Given the description of an element on the screen output the (x, y) to click on. 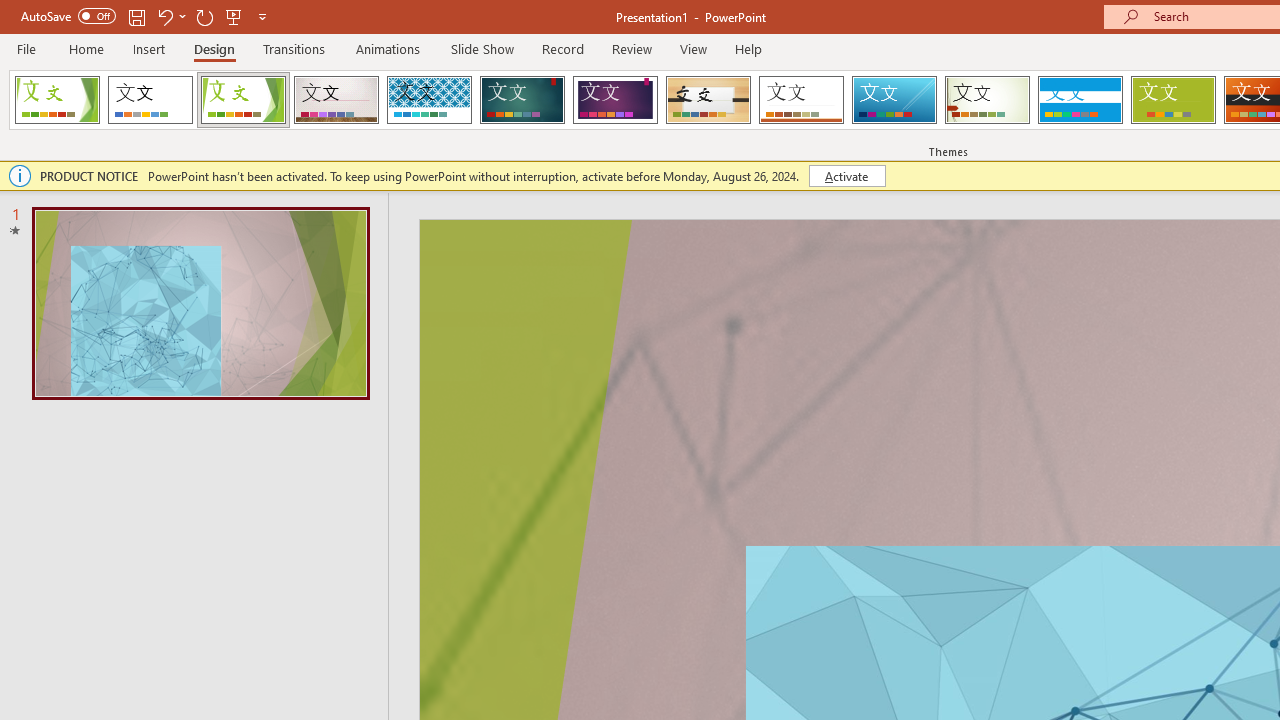
Integral (429, 100)
Activate (846, 175)
Ion (522, 100)
